Given the description of an element on the screen output the (x, y) to click on. 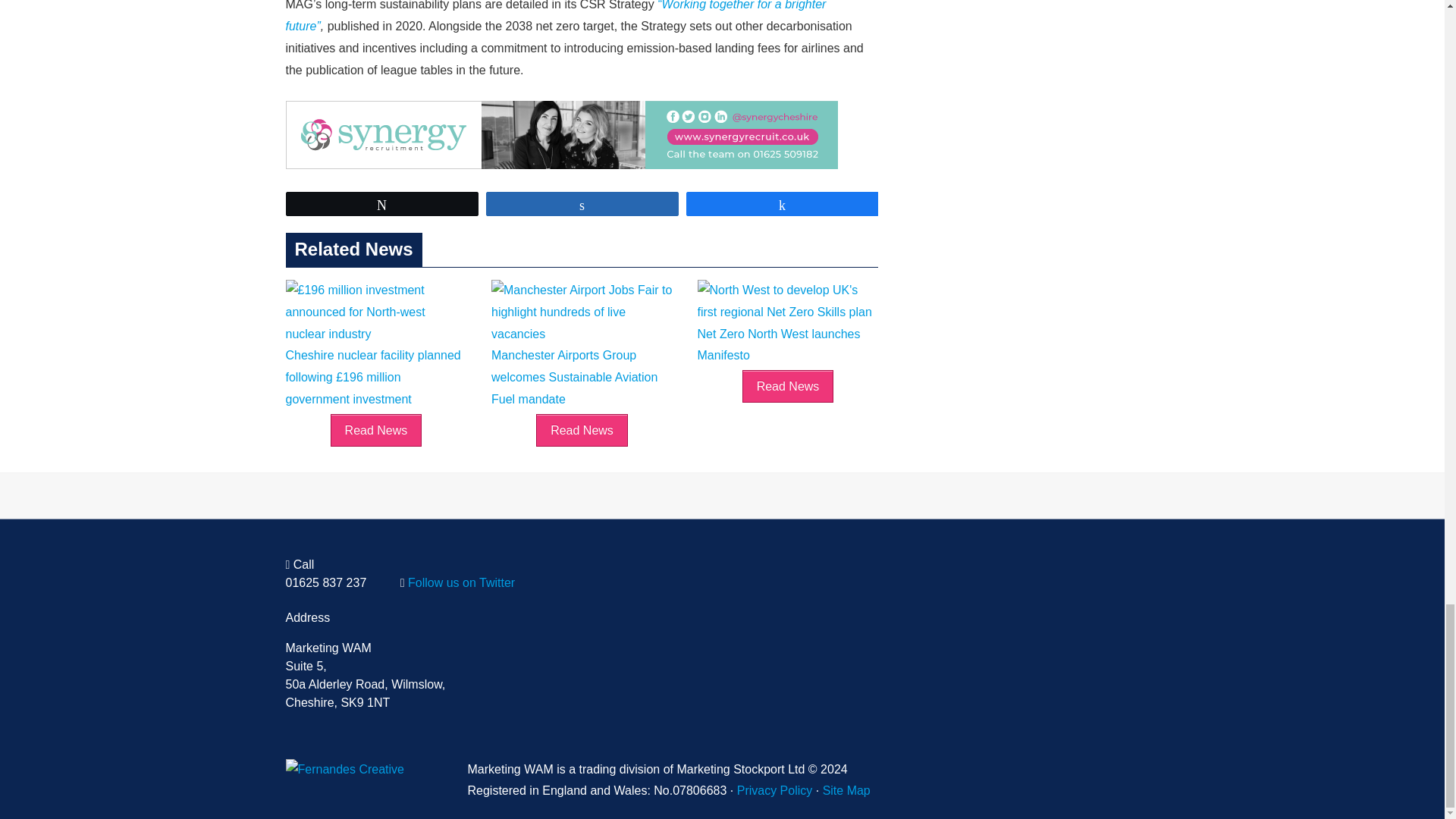
Read News (581, 430)
Read News (376, 430)
Net Zero North West launches Manifesto (788, 333)
